Given the description of an element on the screen output the (x, y) to click on. 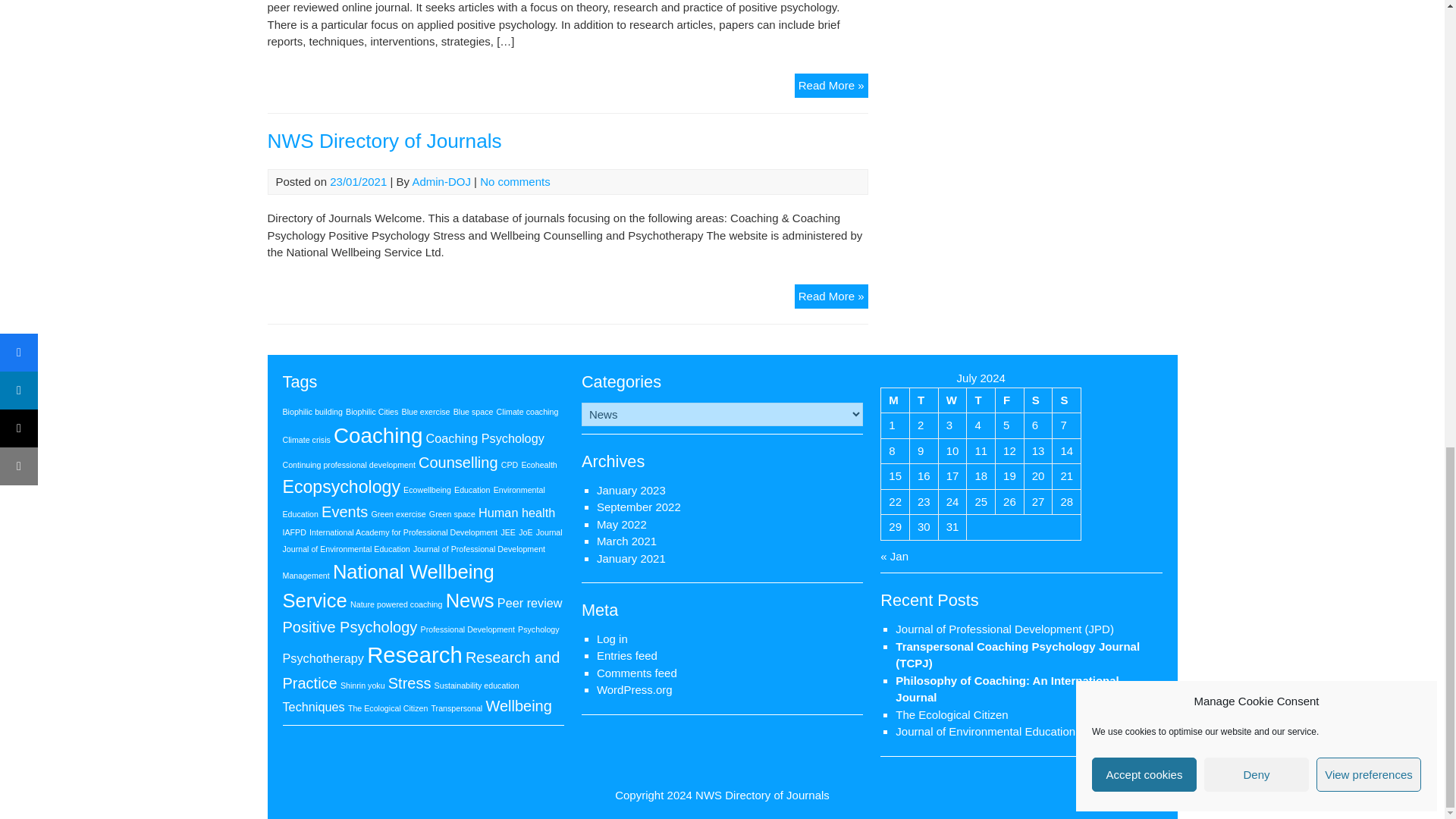
Permalink to NWS Directory of Journals (383, 140)
Friday (1010, 400)
NWS Directory of Journals (762, 794)
Thursday (980, 400)
Wednesday (951, 400)
Saturday (1037, 400)
Tuesday (924, 400)
Sunday (1066, 400)
Monday (895, 400)
